Given the description of an element on the screen output the (x, y) to click on. 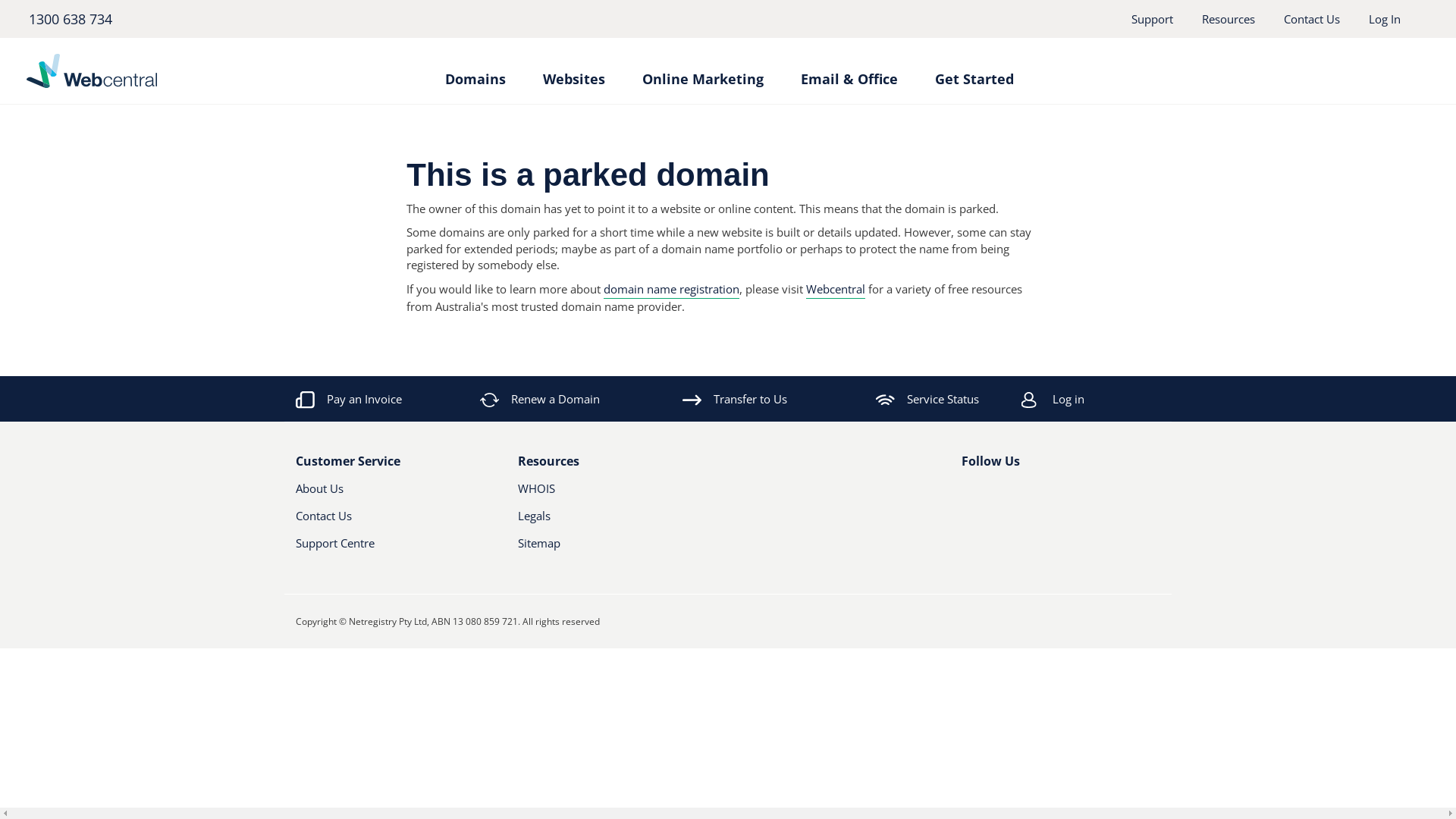
Service Status Element type: text (927, 398)
WHOIS Element type: text (601, 494)
Legals Element type: text (601, 521)
Renew a Domain Element type: text (540, 398)
Contact Us Element type: text (1311, 18)
Support Centre Element type: text (395, 548)
Online Marketing Element type: text (701, 71)
Pay an Invoice Element type: text (348, 398)
Webcentral Element type: hover (163, 70)
Email & Office Element type: text (848, 71)
Facebook Element type: hover (970, 494)
Support Element type: text (1152, 18)
1300 638 734 Element type: text (69, 18)
About Us Element type: text (379, 494)
RSS Element type: hover (1045, 494)
Get Started Element type: text (973, 71)
Transfer to Us Element type: text (734, 398)
Log in Element type: text (1111, 398)
Websites Element type: text (573, 71)
Sitemap Element type: text (616, 548)
domain name registration Element type: text (671, 289)
Webcentral Element type: text (835, 289)
Resources Element type: text (1228, 18)
Contact Us Element type: text (379, 521)
Domains Element type: text (474, 71)
Twitter Element type: hover (993, 494)
Log In Element type: text (1384, 18)
Youtube Element type: hover (1019, 494)
